Given the description of an element on the screen output the (x, y) to click on. 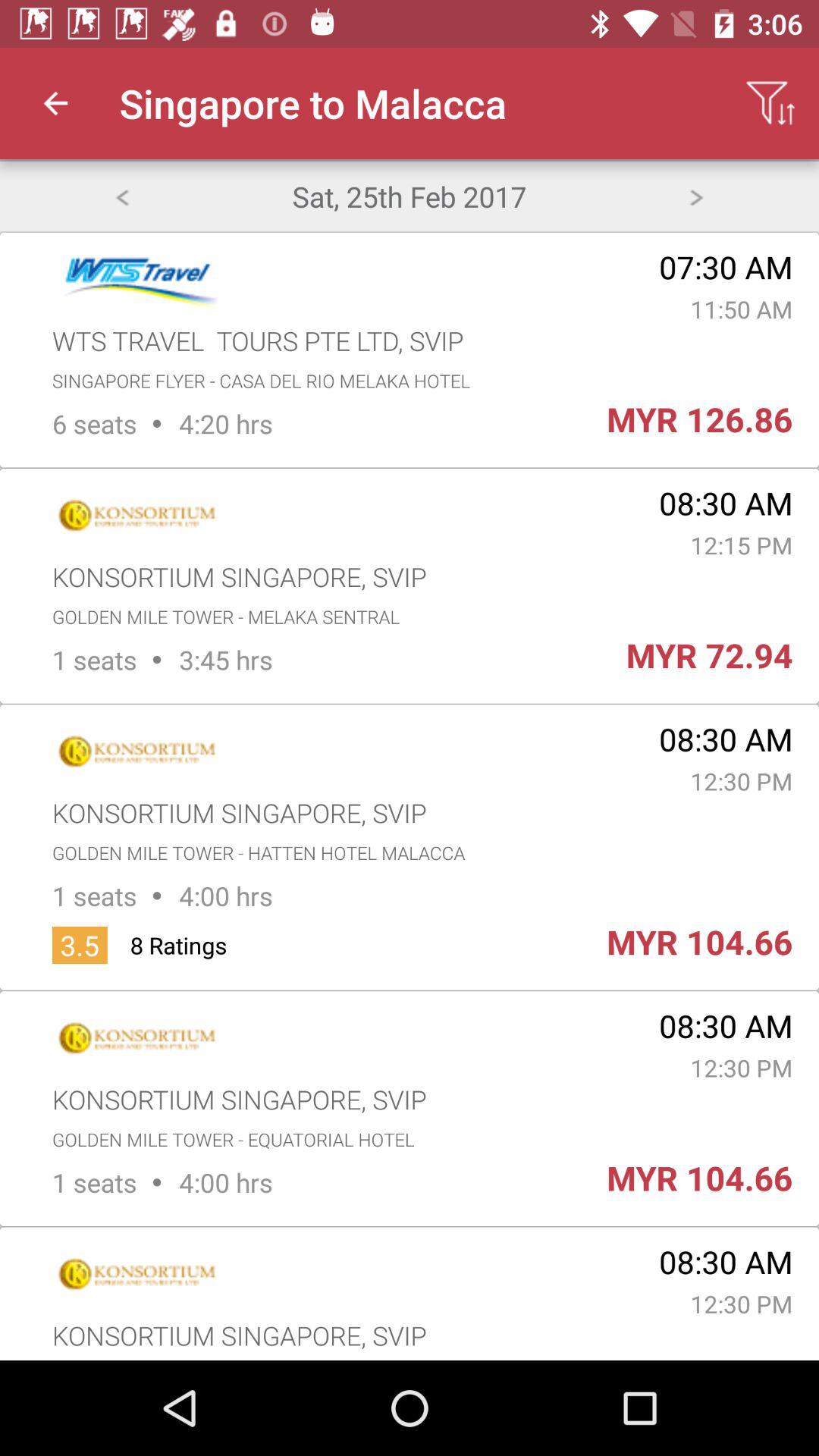
the icon at top right corner of the page (770, 103)
